Given the description of an element on the screen output the (x, y) to click on. 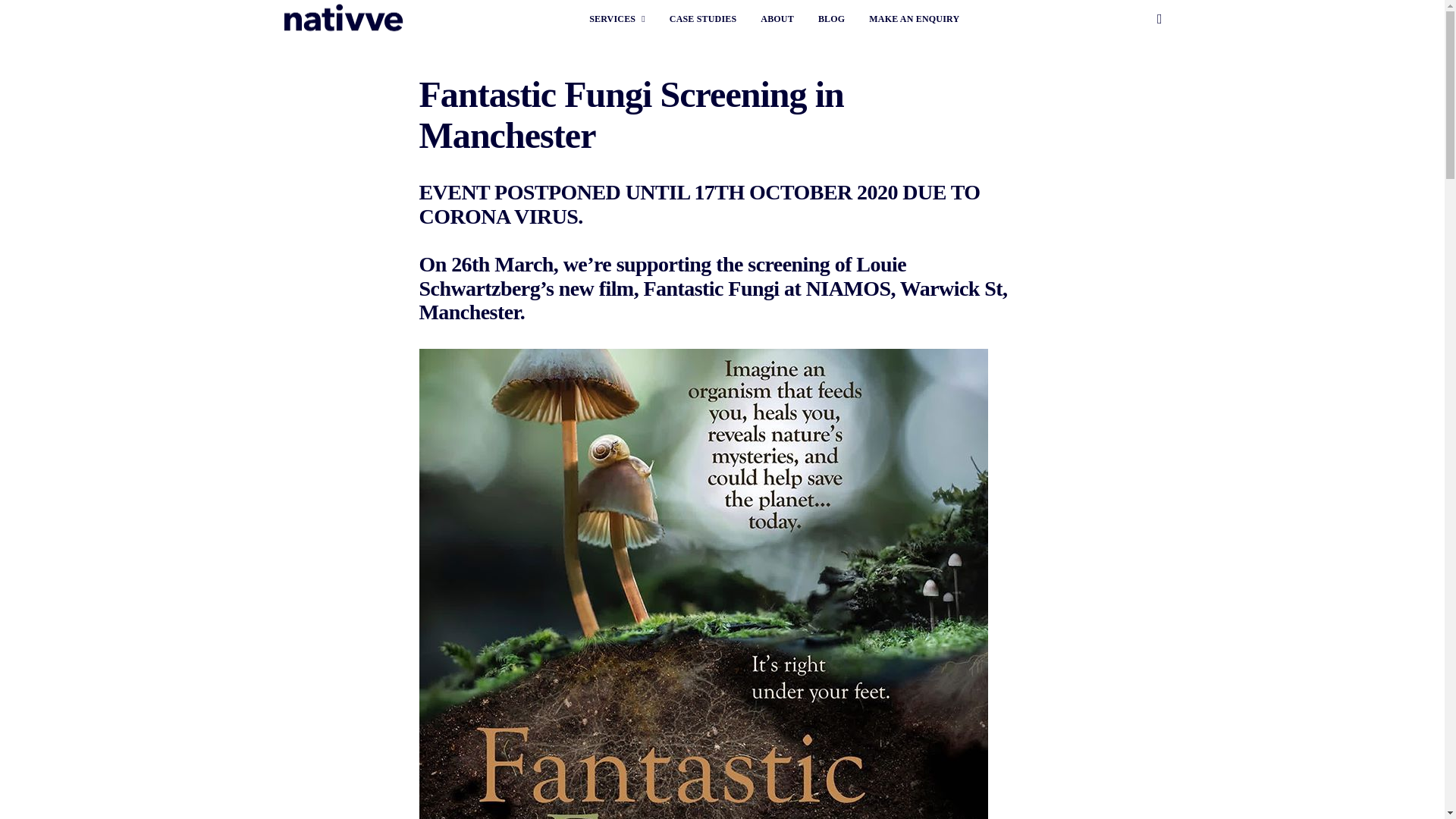
CASE STUDIES (702, 18)
NIAMOS (848, 287)
Fantastic Fungi (710, 287)
SERVICES (617, 18)
MAKE AN ENQUIRY (914, 18)
